Given the description of an element on the screen output the (x, y) to click on. 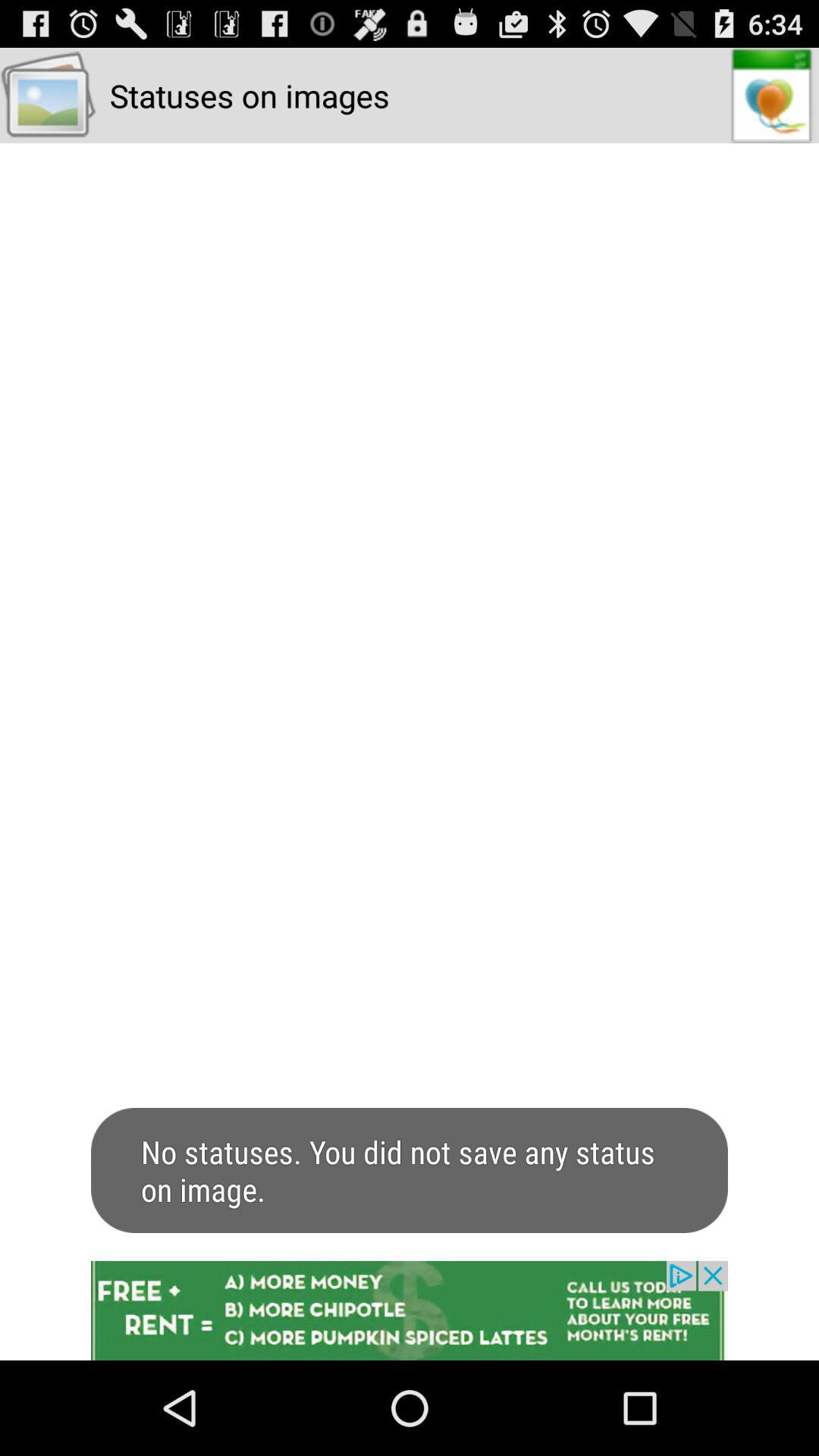
toggle an advertisements (409, 1310)
